Given the description of an element on the screen output the (x, y) to click on. 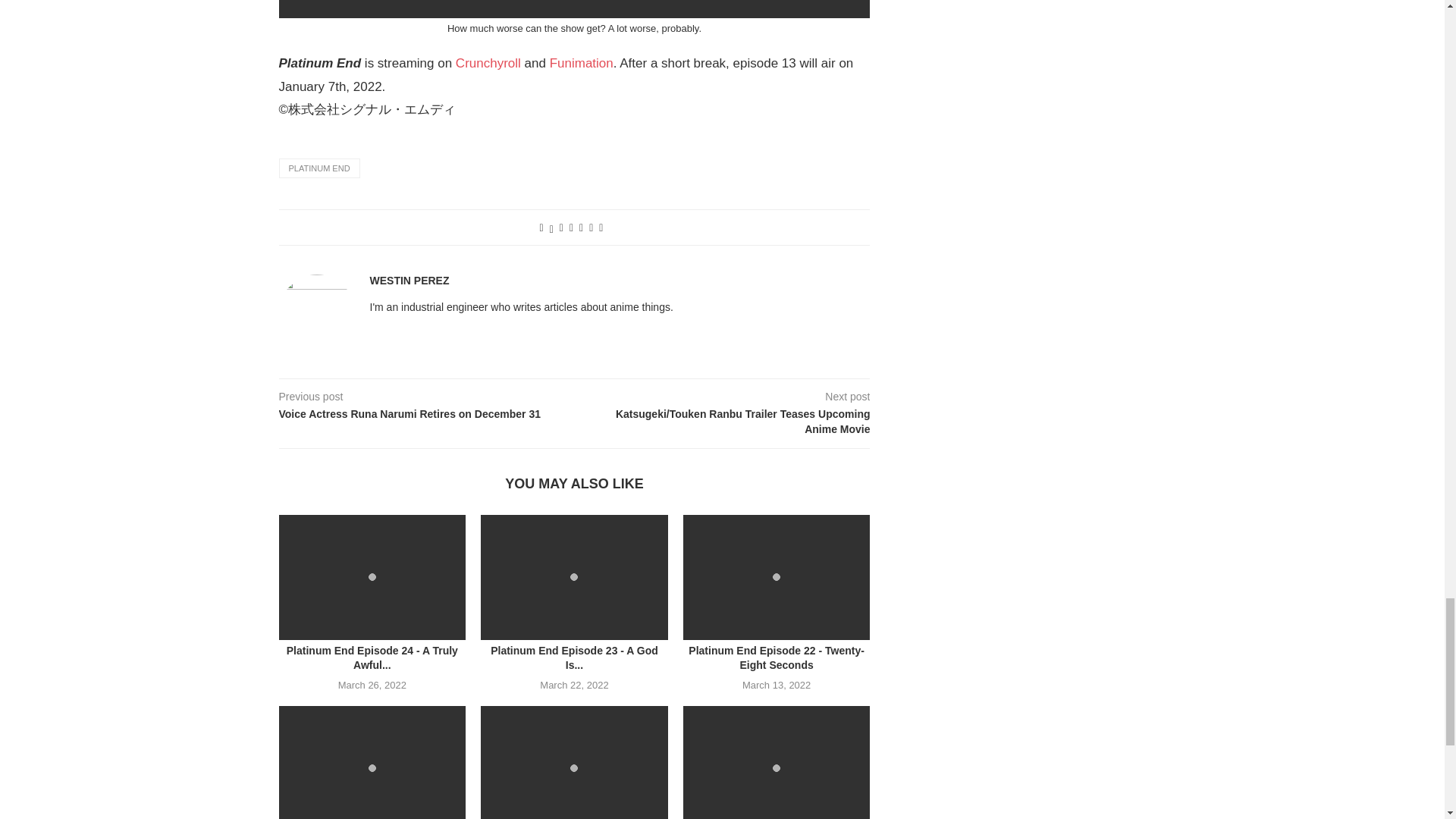
Platinum End Episode 24 - A Truly Awful Finale (372, 577)
Platinum End Episode 23 - A God Is Chosen (574, 577)
Platinum End Episode 20 - Ending the Selection Process (776, 762)
Platinum End Episode 22 - Twenty-Eight Seconds (776, 577)
Platinum End Episode 21 - Drastic Measures (372, 762)
Prepare for 3 Major Anime Fights This Week (574, 762)
